Given the description of an element on the screen output the (x, y) to click on. 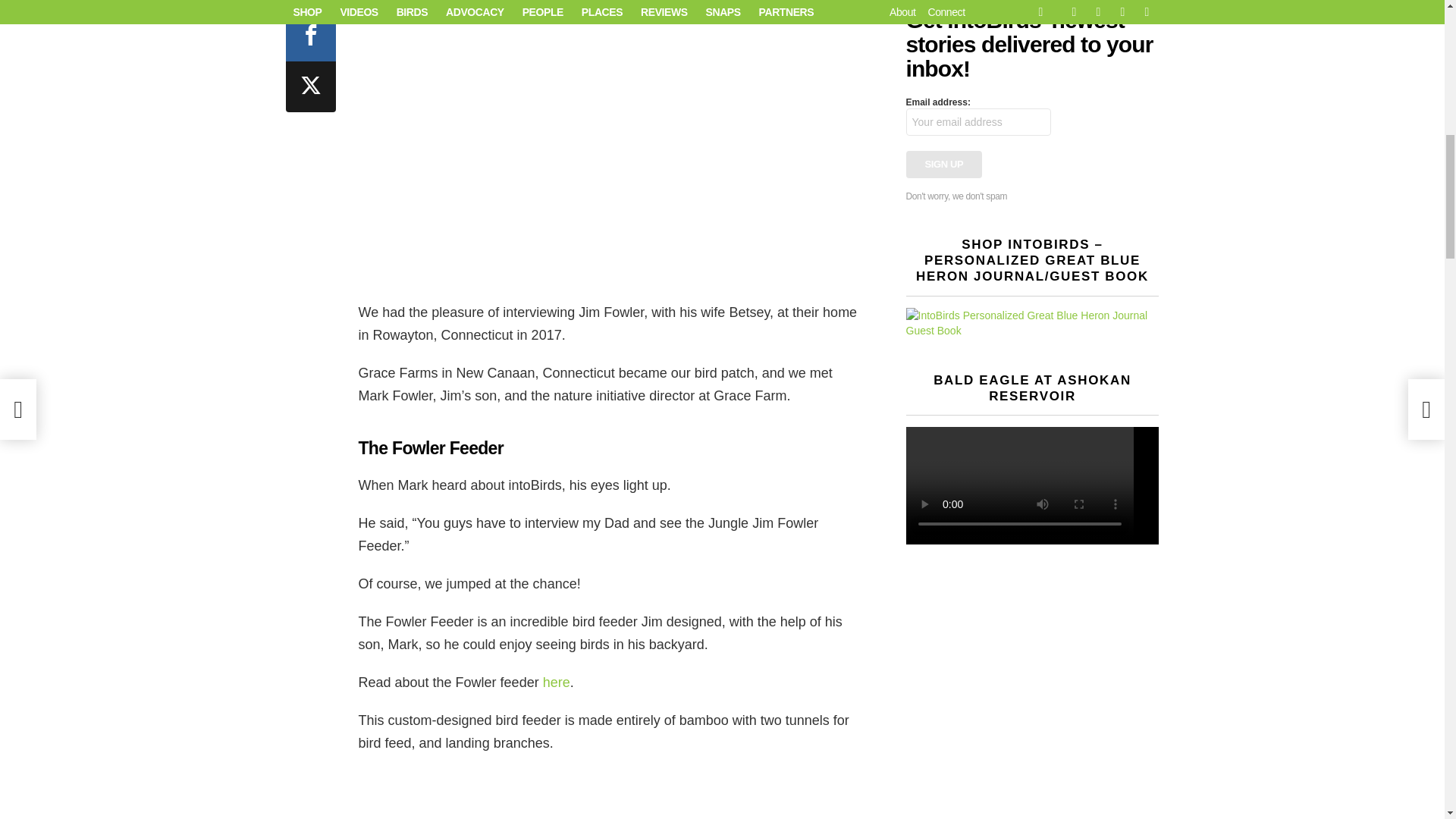
Sign up (943, 164)
here (556, 682)
